Given the description of an element on the screen output the (x, y) to click on. 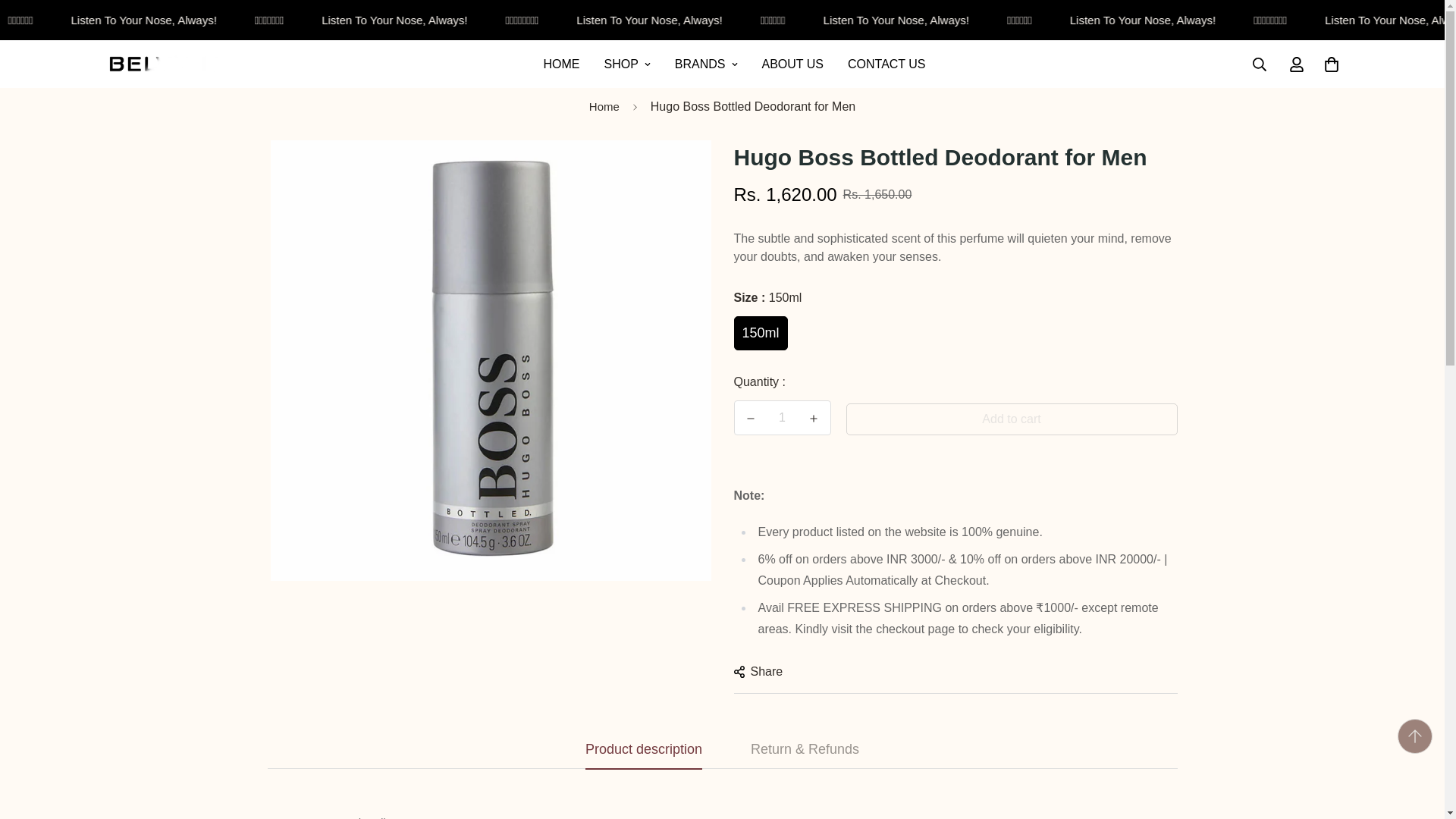
BRANDS (705, 63)
SHOP (626, 63)
1 (782, 417)
Belvish (734, 63)
HOME (161, 63)
Back to the home page (561, 63)
